Given the description of an element on the screen output the (x, y) to click on. 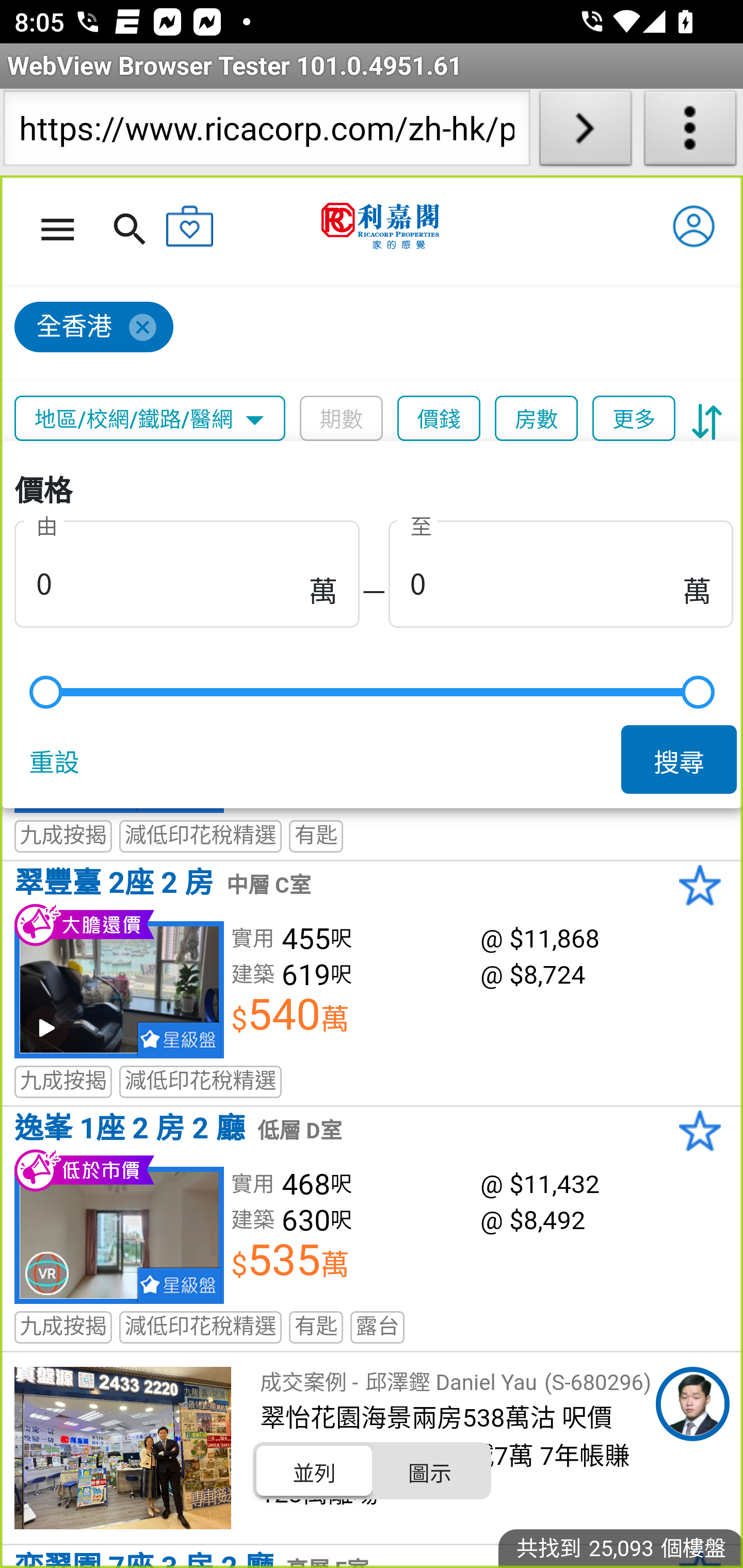
Load URL (585, 132)
About WebView (690, 132)
全香港 (94, 327)
地區/校網/鐵路/醫網 (150, 418)
期數 (341, 418)
價錢 (439, 418)
房數 (536, 418)
更多 (634, 418)
sort (706, 418)
由 0, 由 萬 (187, 569)
至 0, 至 萬 (560, 569)
重設 (57, 759)
搜尋 (679, 759)
Daniel Yau (692, 1404)
並列 (314, 1470)
圖示 (429, 1470)
